Given the description of an element on the screen output the (x, y) to click on. 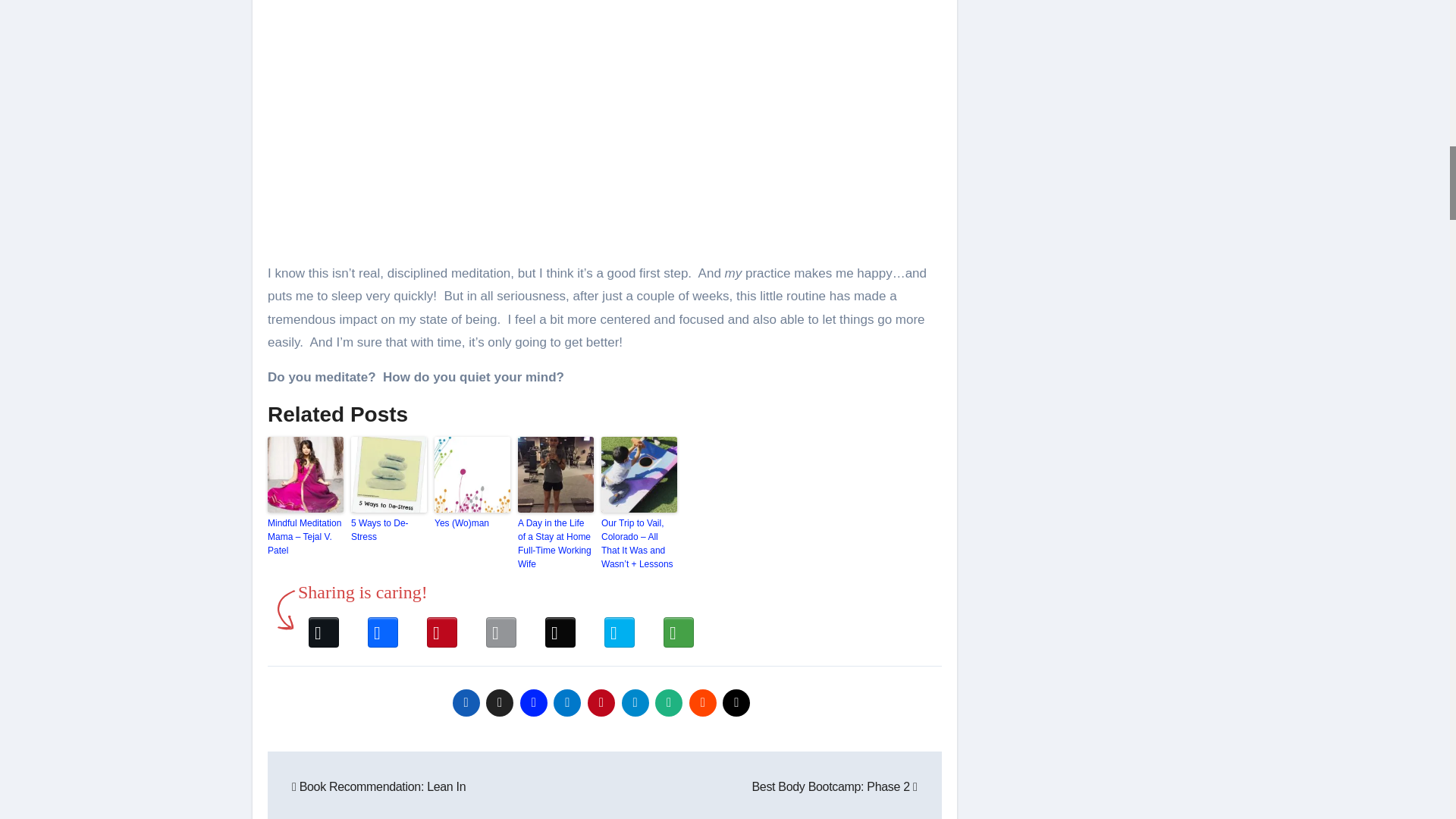
Email This (501, 626)
Pinterest (441, 626)
More Options (678, 626)
Facebook (382, 626)
PrintFriendly (619, 626)
Digg (560, 626)
A Day in the Life of a Stay at Home Full-Time Working Wife (556, 543)
5 Ways to De-Stress (388, 529)
Venice 026 (604, 125)
